Given the description of an element on the screen output the (x, y) to click on. 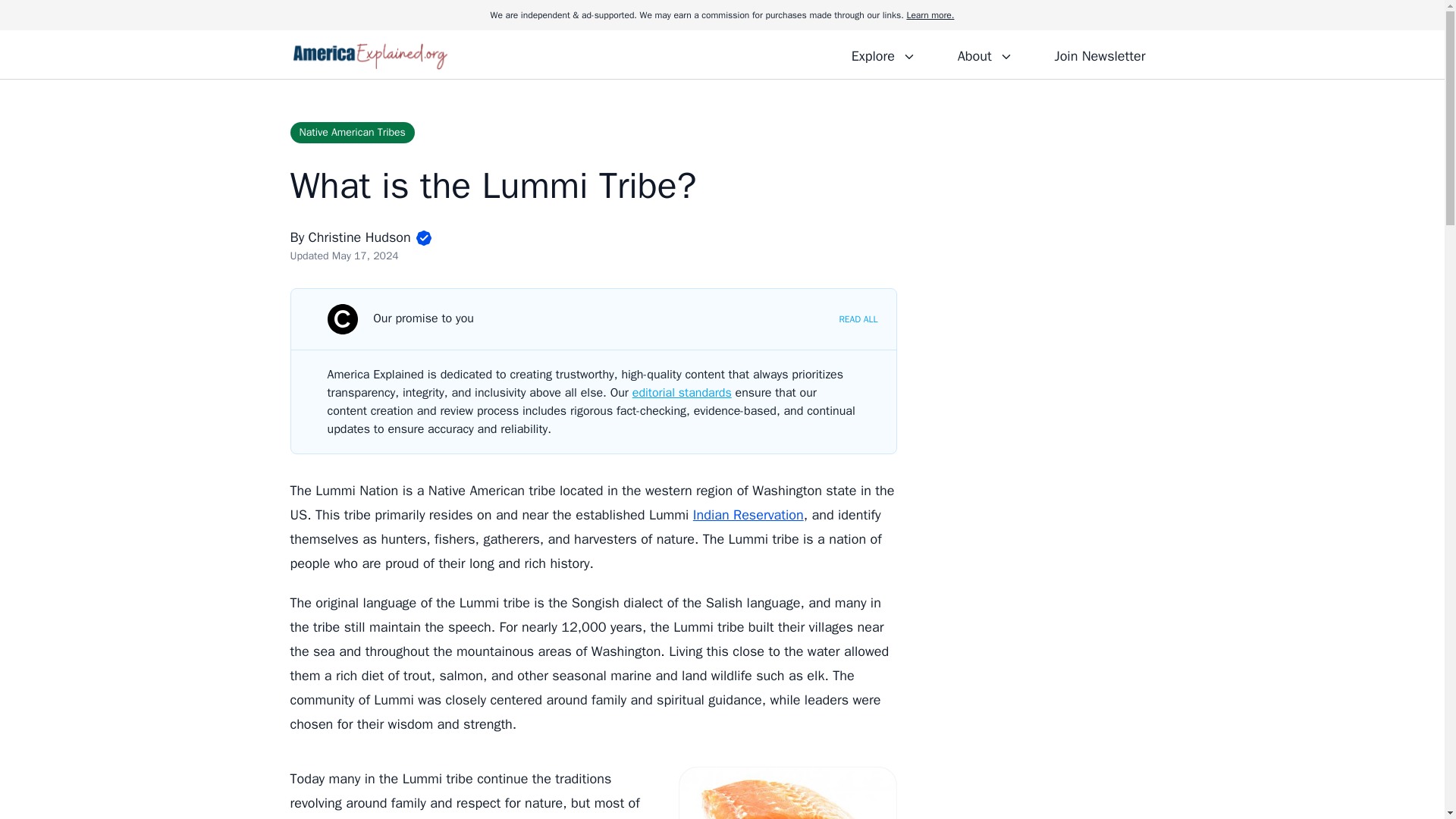
Learn more. (929, 15)
Native American Tribes (351, 132)
Explore (883, 54)
editorial standards (681, 393)
Indian Reservation (748, 514)
Join Newsletter (1099, 54)
About (984, 54)
READ ALL (857, 318)
